Given the description of an element on the screen output the (x, y) to click on. 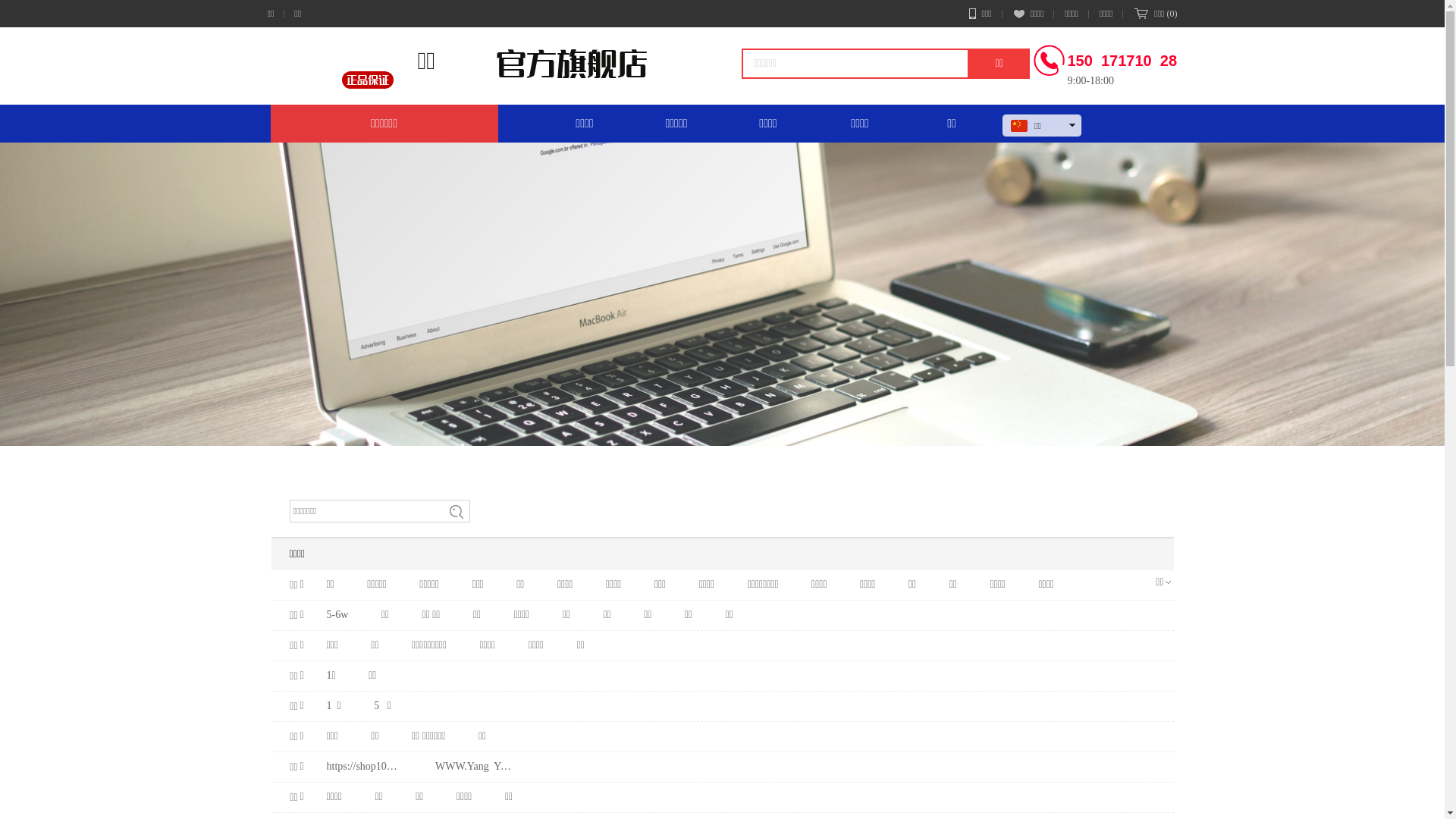
  Element type: text (1025, 145)
5-6w Element type: text (337, 614)
